Given the description of an element on the screen output the (x, y) to click on. 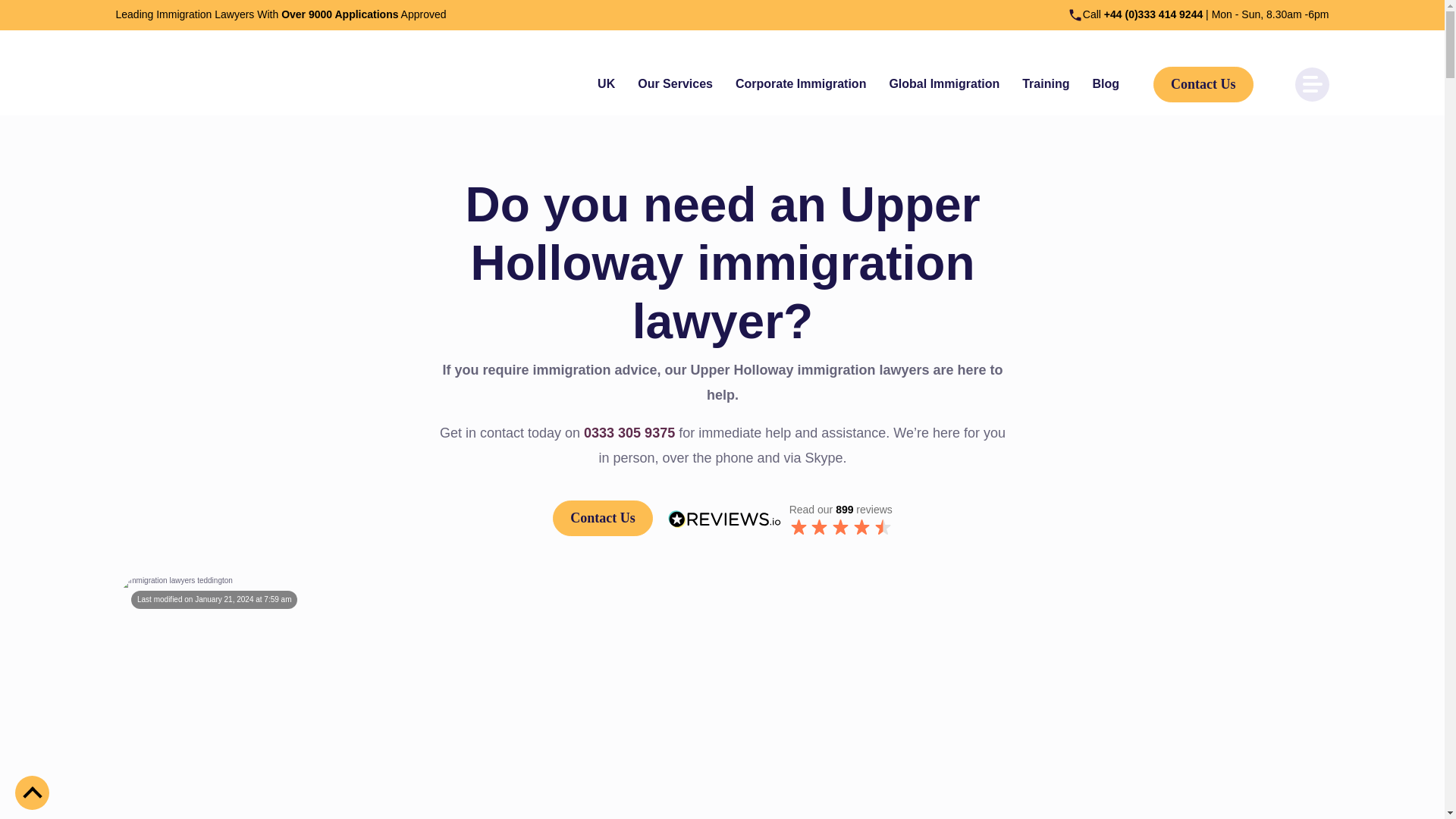
Immigration Advice Service (190, 83)
